Given the description of an element on the screen output the (x, y) to click on. 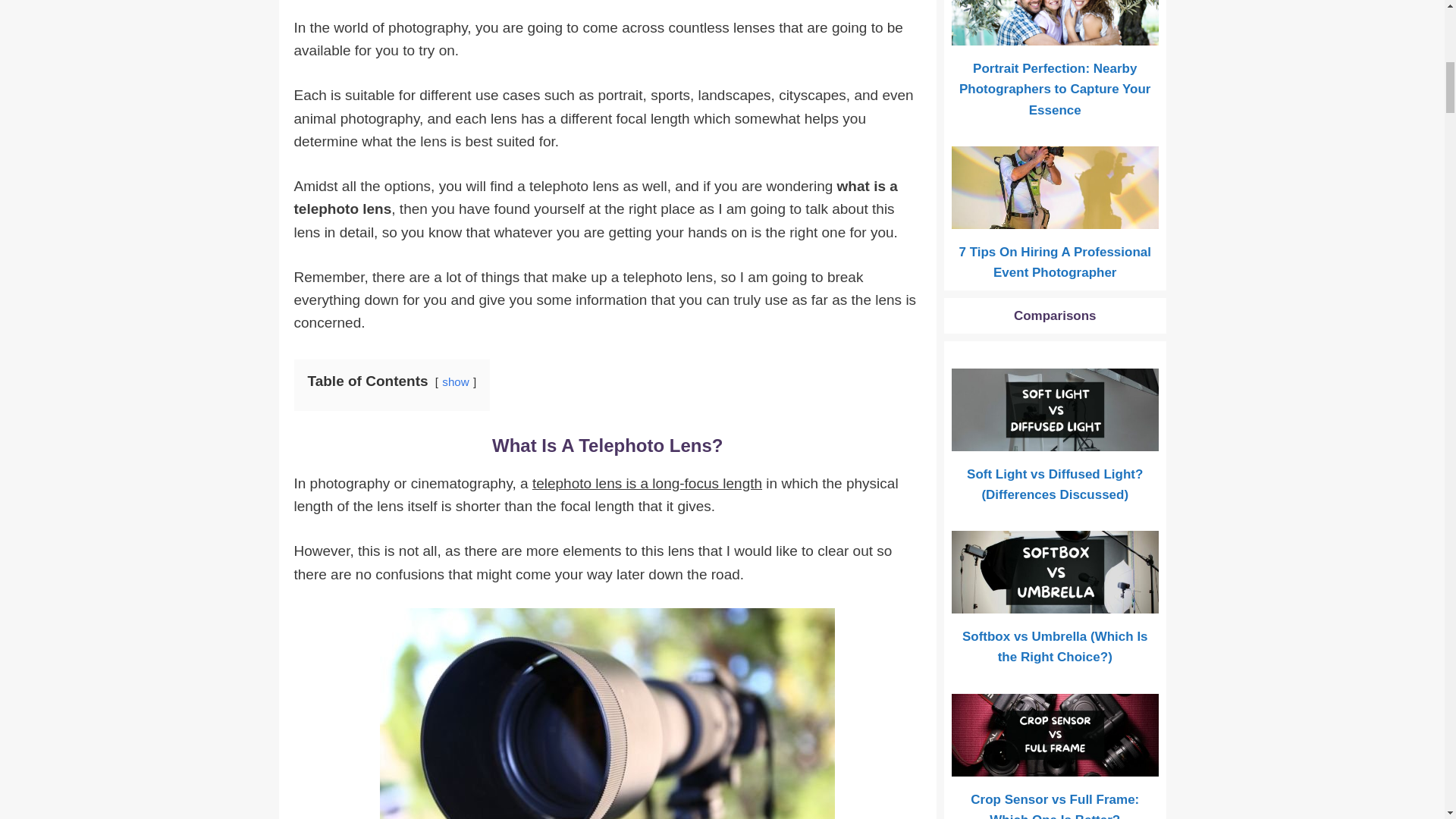
Crop Sensor vs Full Frame: Which One Is Better? (1055, 765)
7 Tips On Hiring A Professional Event Photographer (1055, 218)
Scroll back to top (1406, 720)
